Given the description of an element on the screen output the (x, y) to click on. 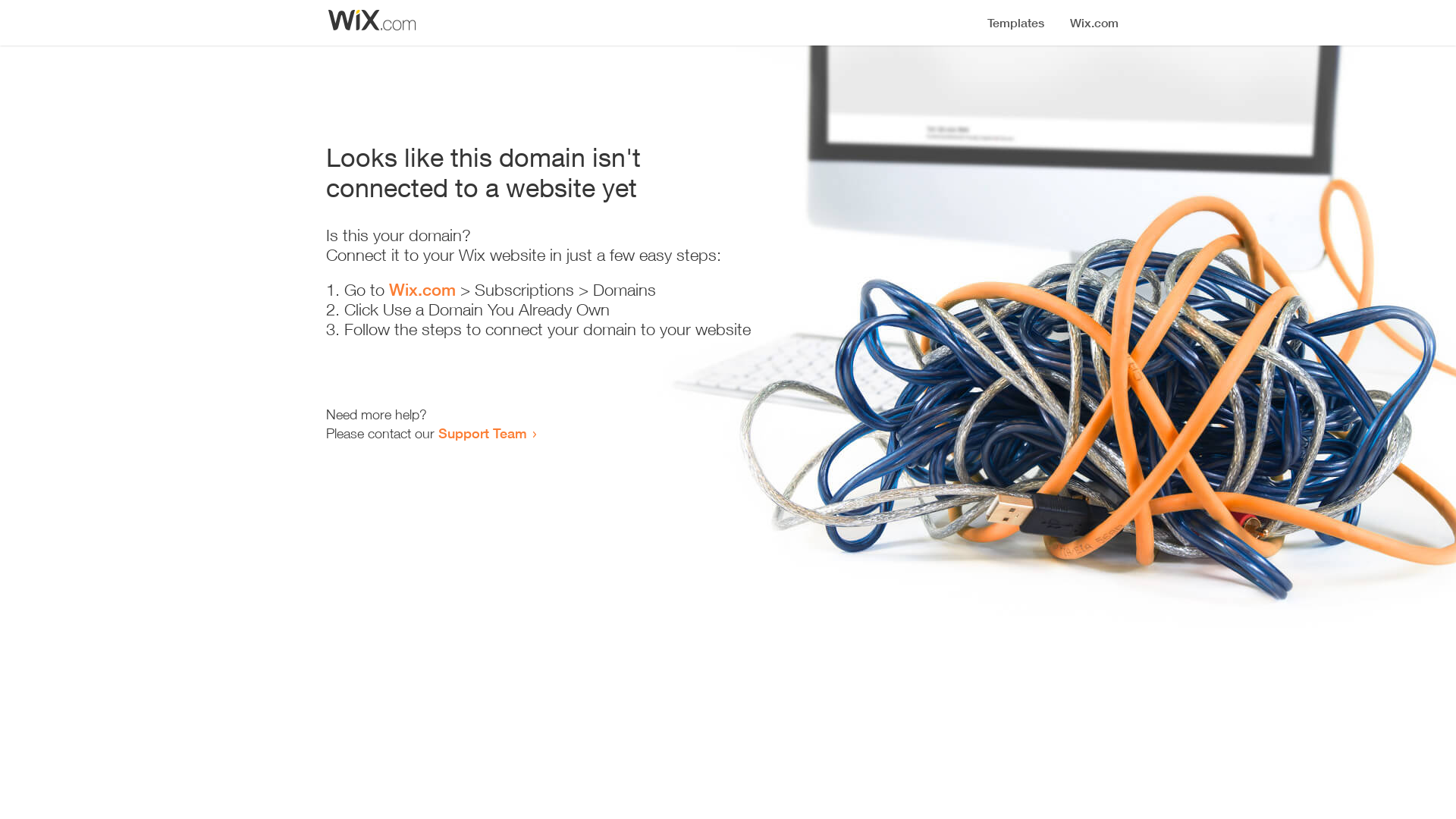
Wix.com Element type: text (422, 289)
Support Team Element type: text (482, 432)
